Given the description of an element on the screen output the (x, y) to click on. 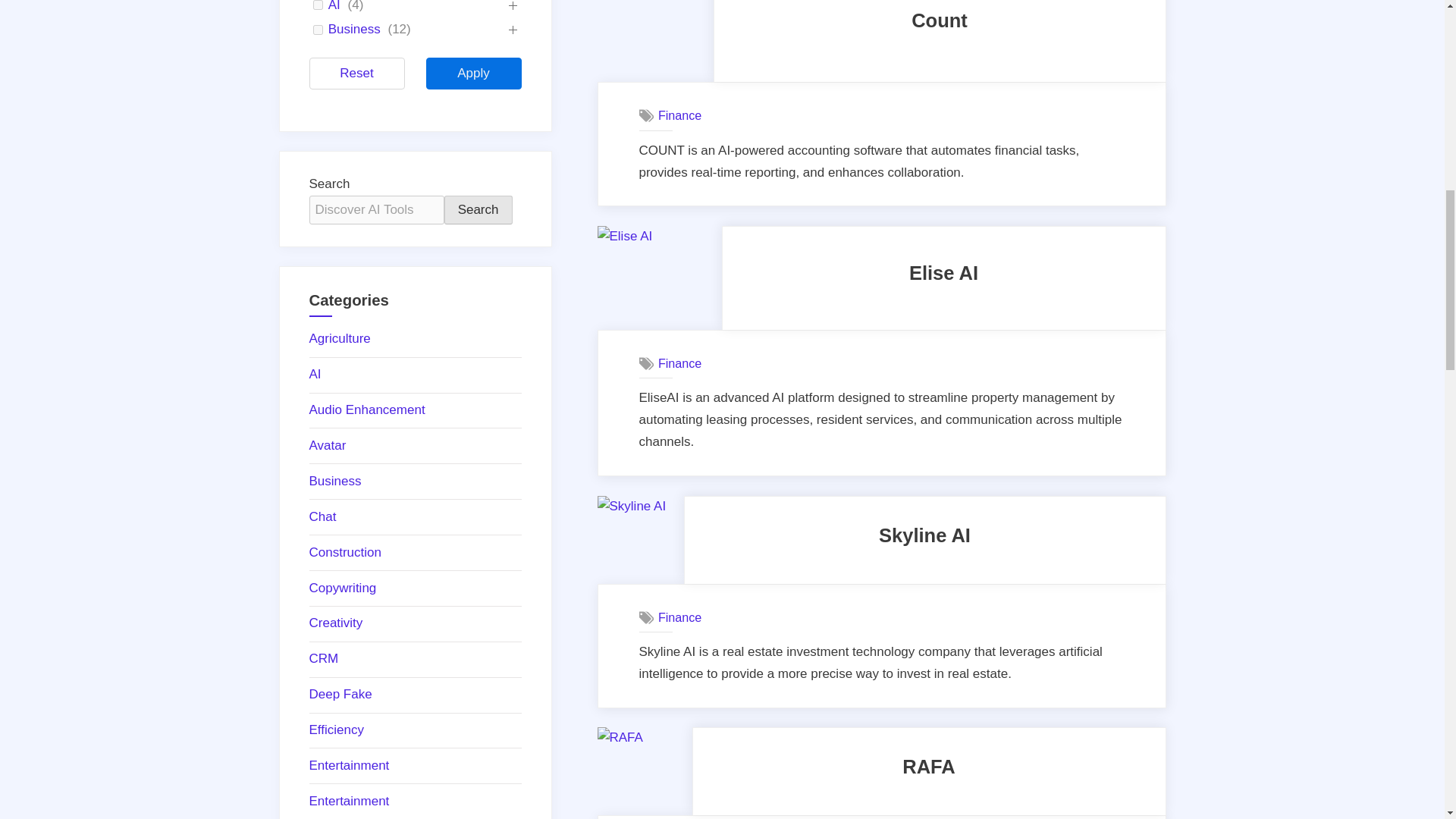
Count (939, 20)
on (318, 30)
on (318, 4)
